Given the description of an element on the screen output the (x, y) to click on. 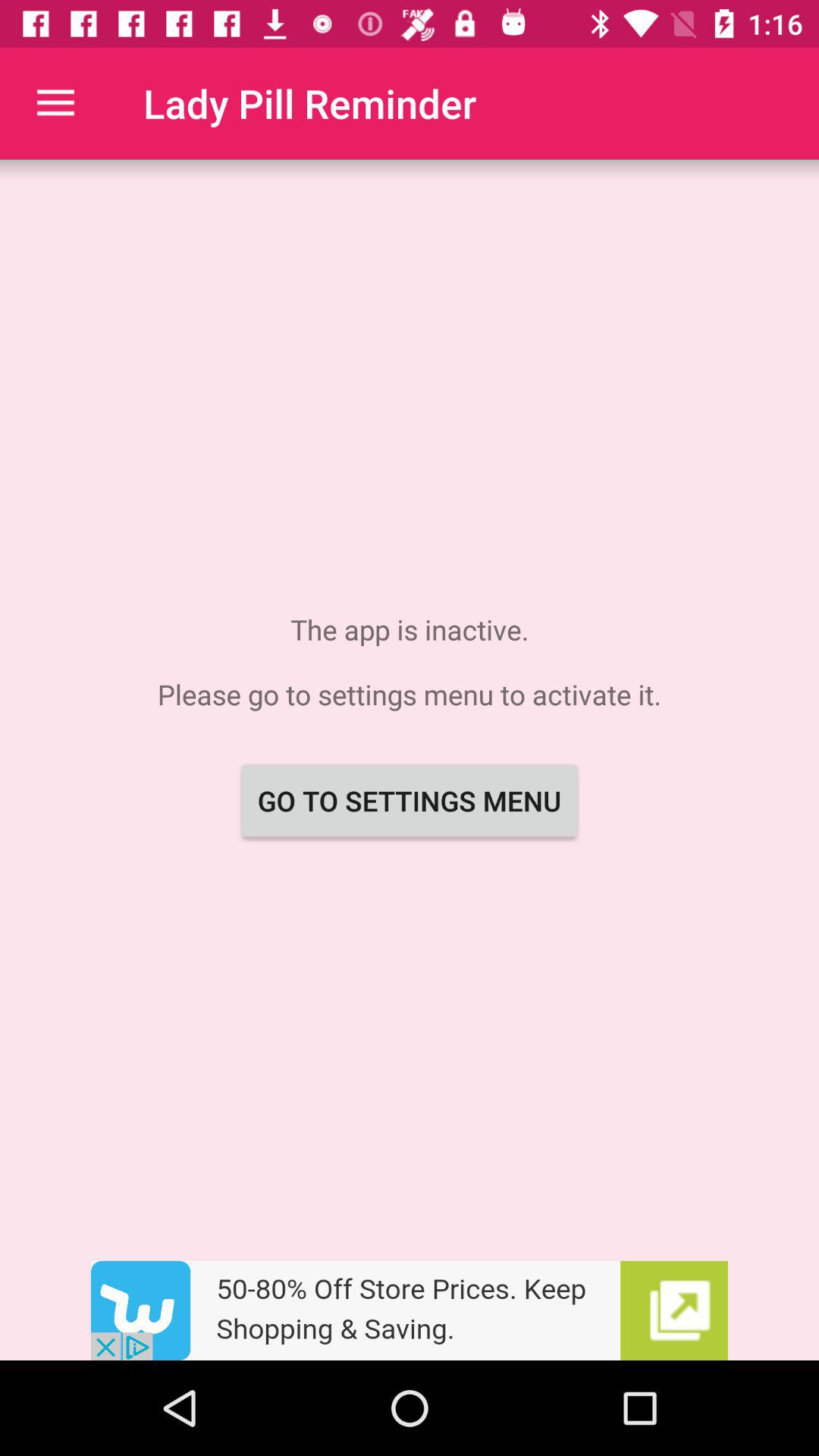
advertisement (409, 1310)
